Given the description of an element on the screen output the (x, y) to click on. 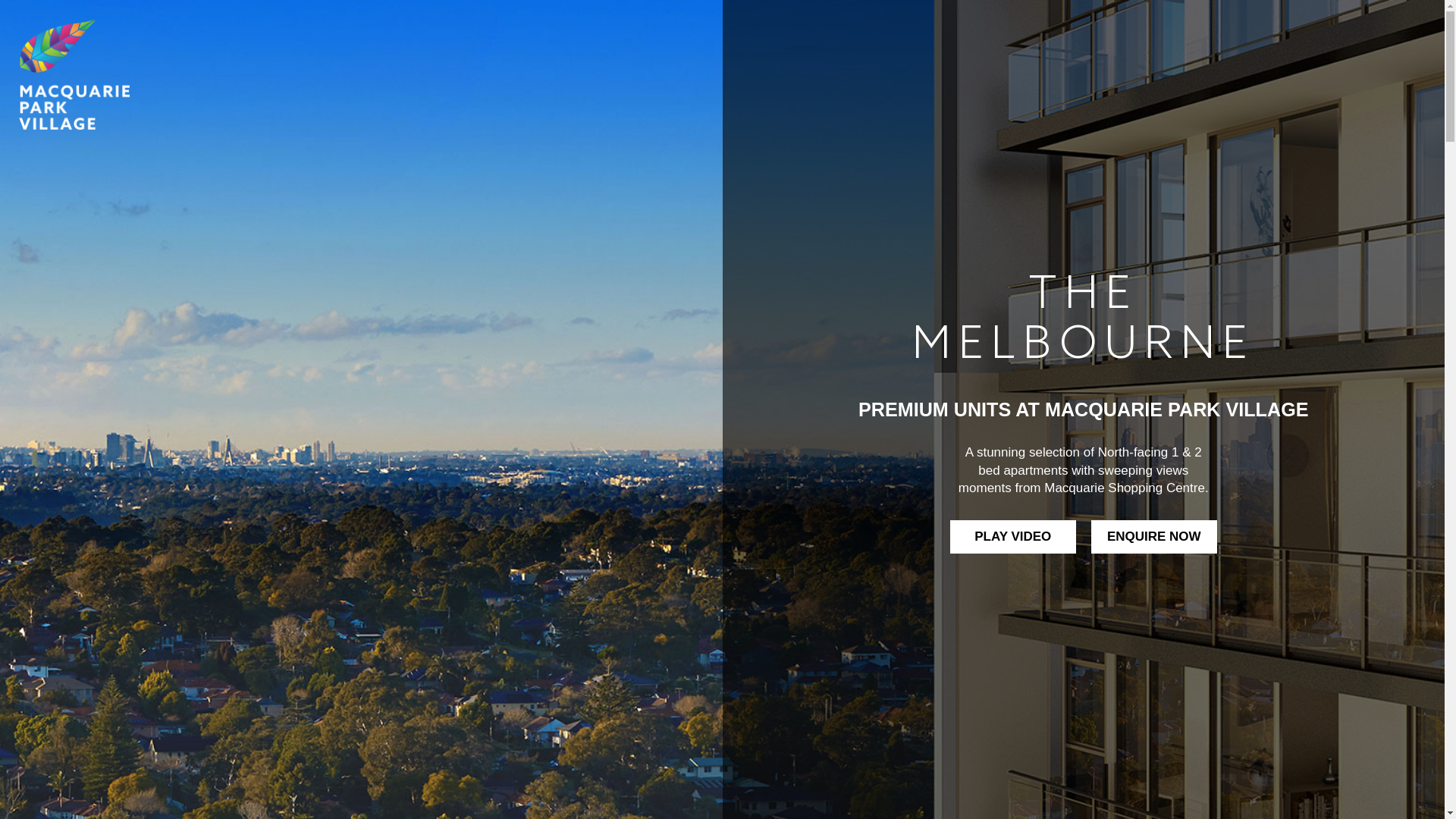
PLAY VIDEO Element type: text (1013, 536)
ENQUIRE NOW Element type: text (1154, 536)
